Given the description of an element on the screen output the (x, y) to click on. 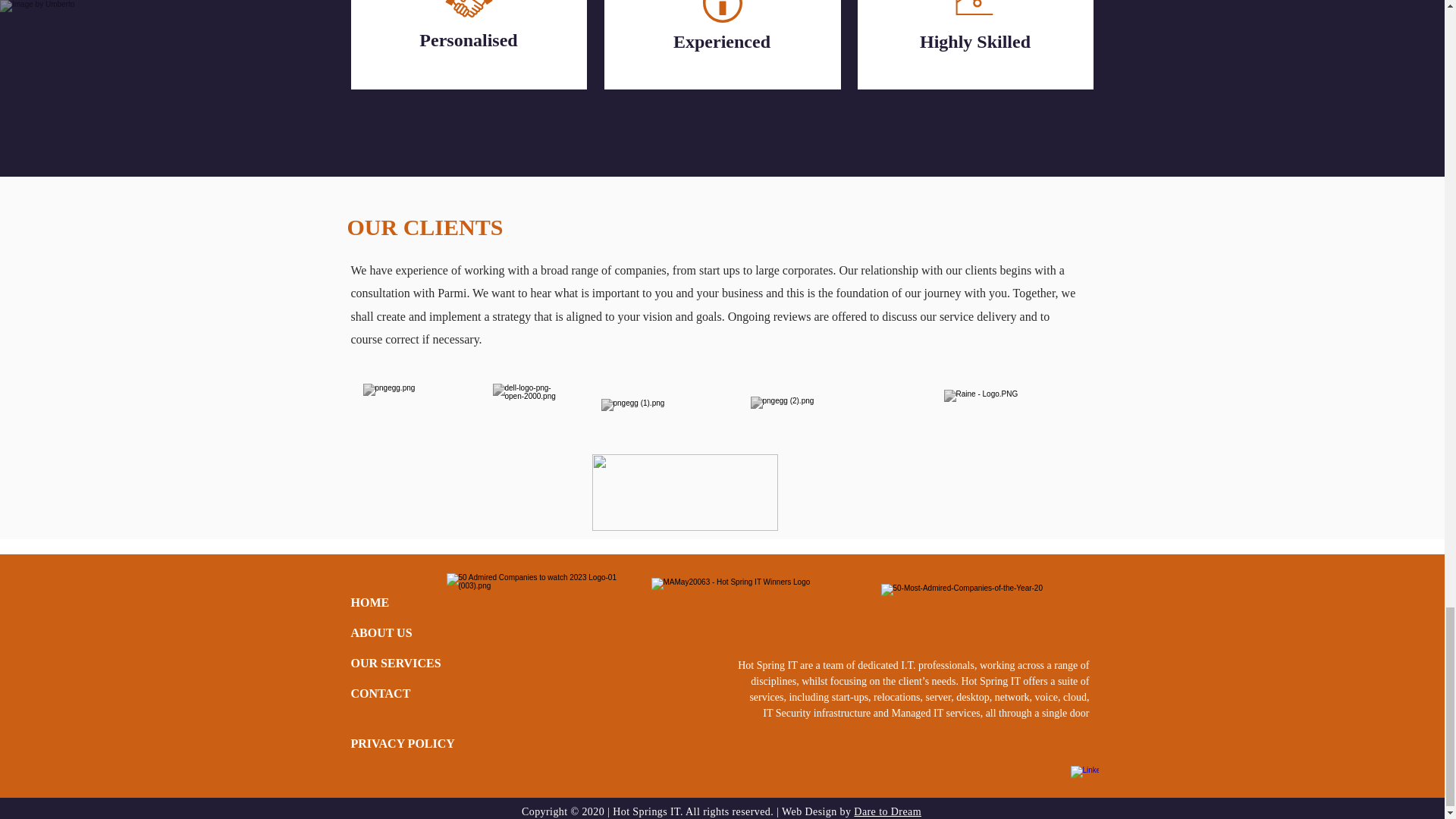
Mayfair Equity Partners .png (684, 492)
